Given the description of an element on the screen output the (x, y) to click on. 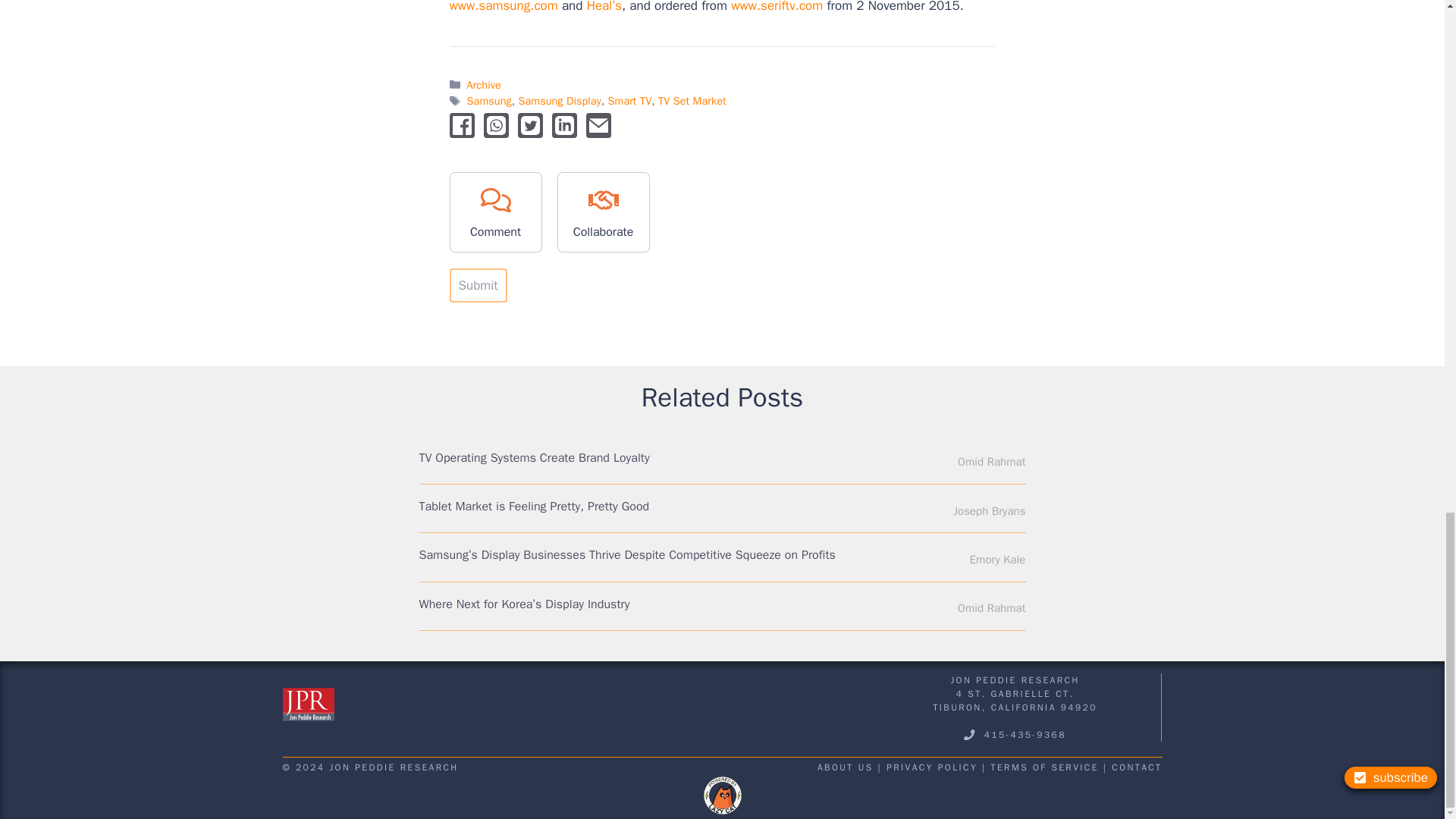
Powered by Lazy Cat Media (722, 795)
TV Operating Systems Create Brand Loyalty (534, 458)
www.seriftv.com (776, 6)
Samsung Display (558, 100)
www.samsung.com (502, 6)
Tablet Market is Feeling Pretty, Pretty Good (534, 506)
Archive (483, 84)
Smart TV (630, 100)
TV Set Market (692, 100)
